Given the description of an element on the screen output the (x, y) to click on. 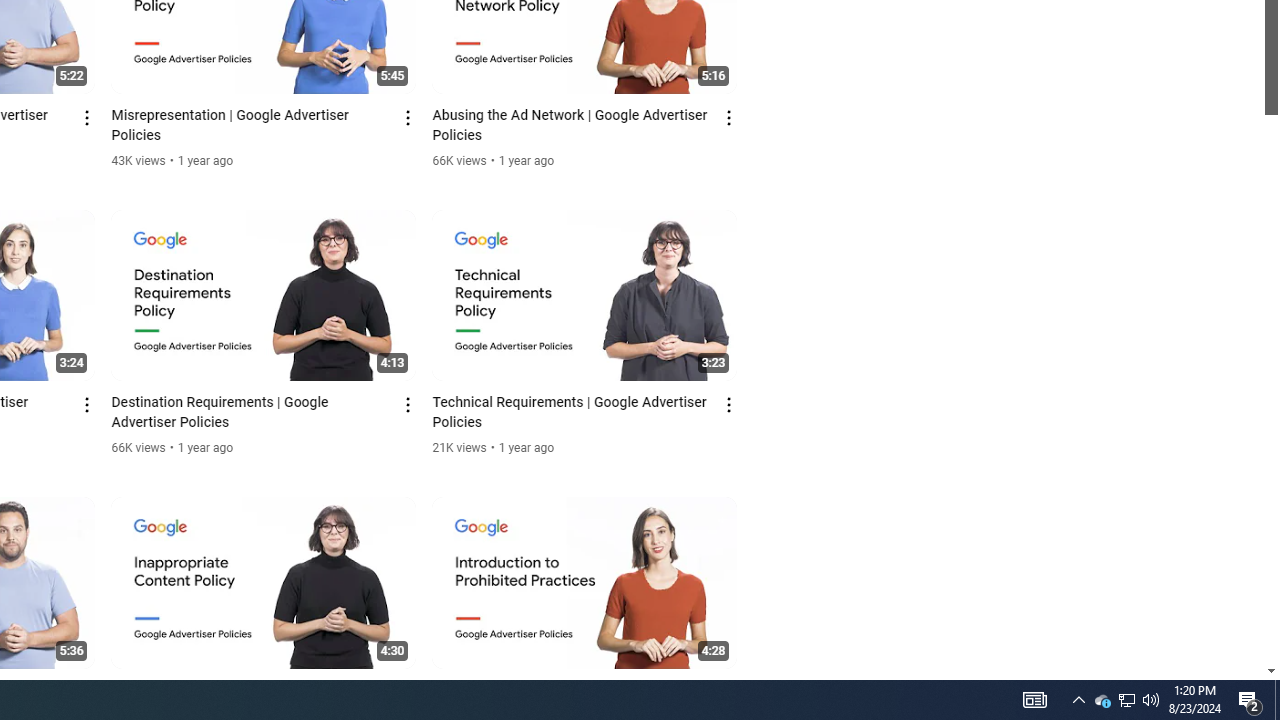
Action menu (729, 691)
